Given the description of an element on the screen output the (x, y) to click on. 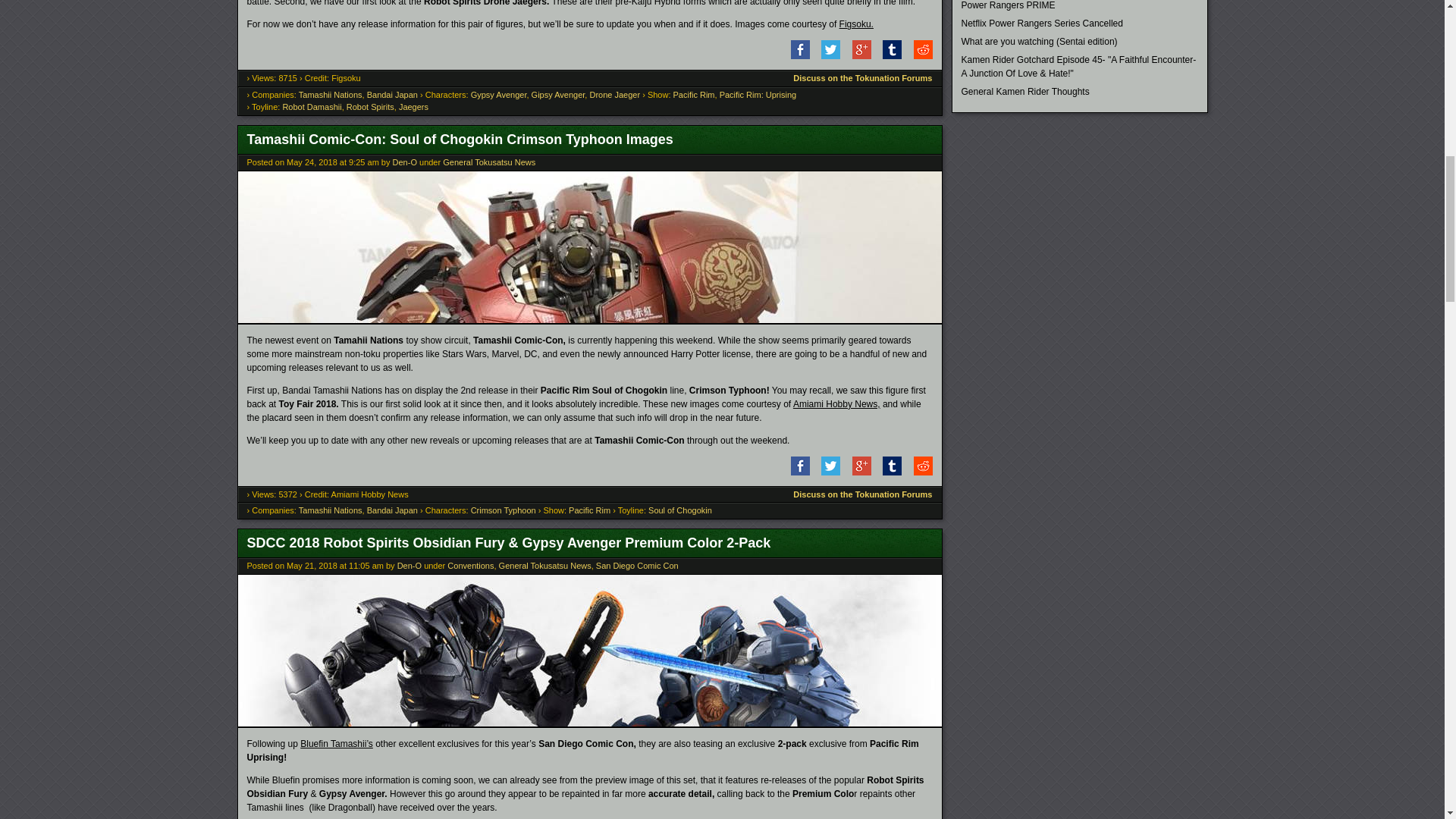
Share with followers on Twitter (826, 55)
Post to tumblr (887, 55)
Share with friends on Facebook (795, 55)
reddit this! (917, 55)
Tamashii Comic-Con: Soul of Chogokin Crimson Typhoon Images (590, 319)
